Given the description of an element on the screen output the (x, y) to click on. 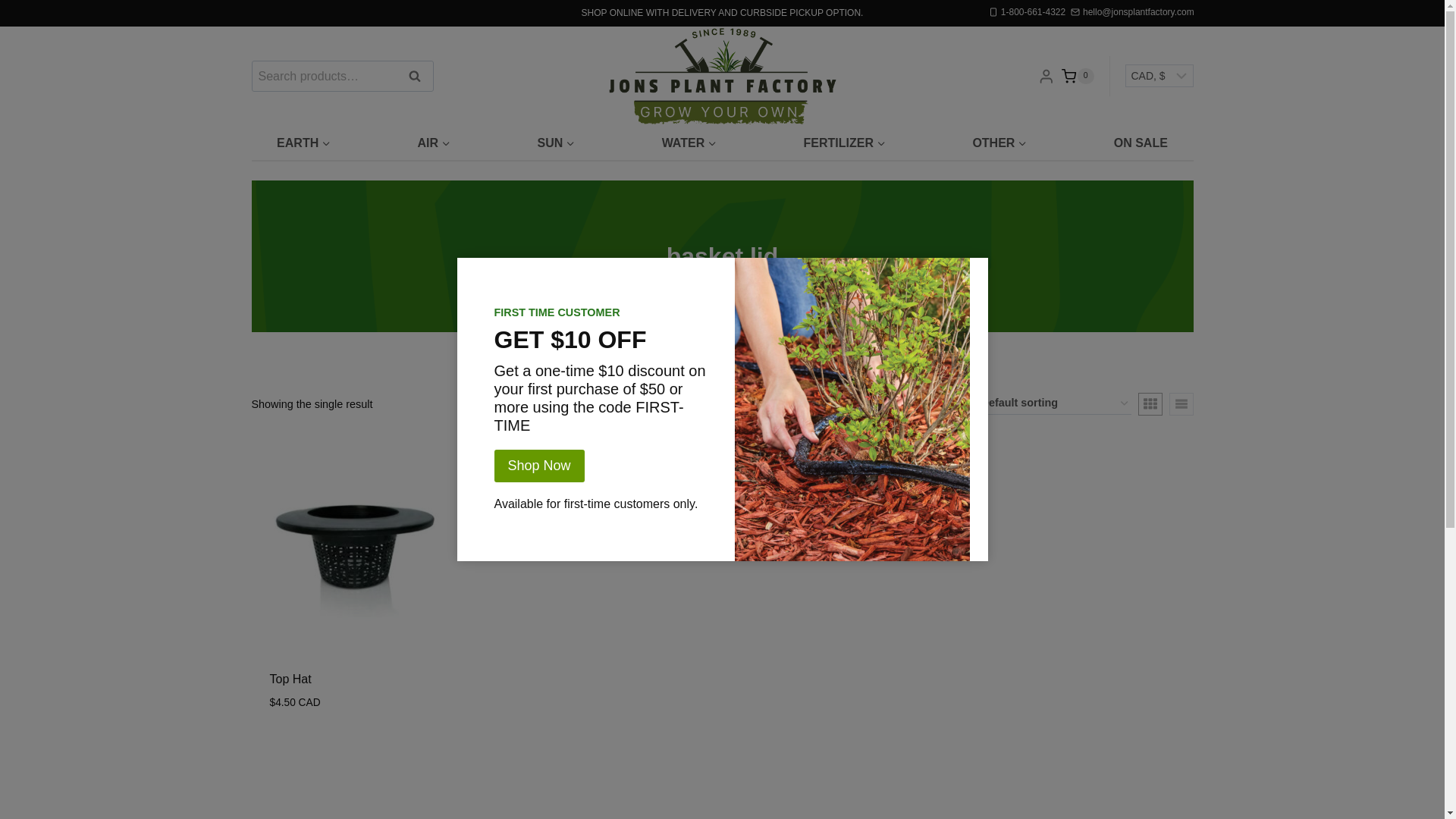
Grid View (1149, 404)
List View (1181, 404)
AIR (434, 142)
Search (414, 75)
EARTH (303, 142)
1-800-661-4322 (1026, 11)
0 (1077, 75)
